Given the description of an element on the screen output the (x, y) to click on. 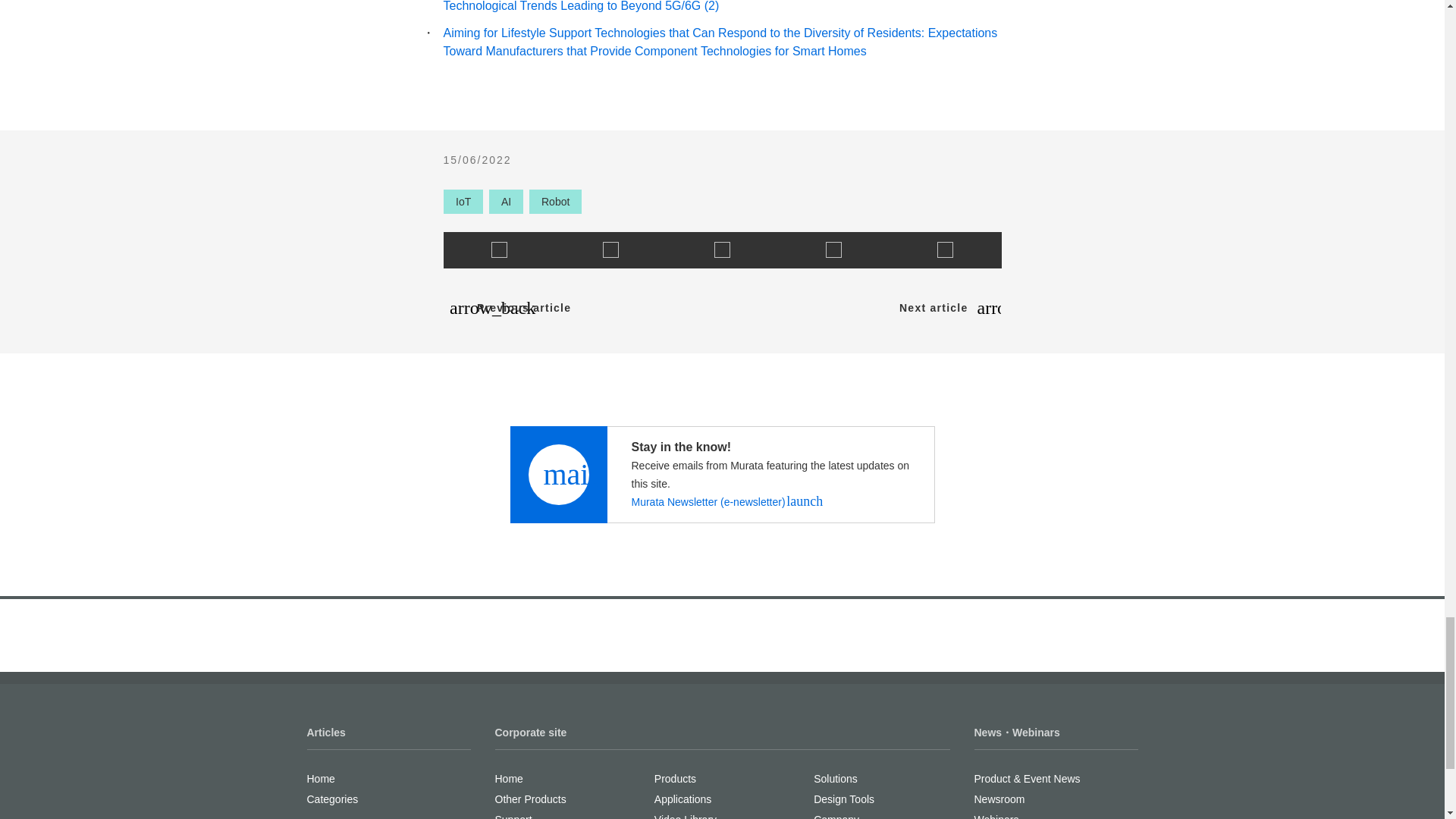
IoT (461, 201)
AI (505, 201)
Robot (554, 201)
